Given the description of an element on the screen output the (x, y) to click on. 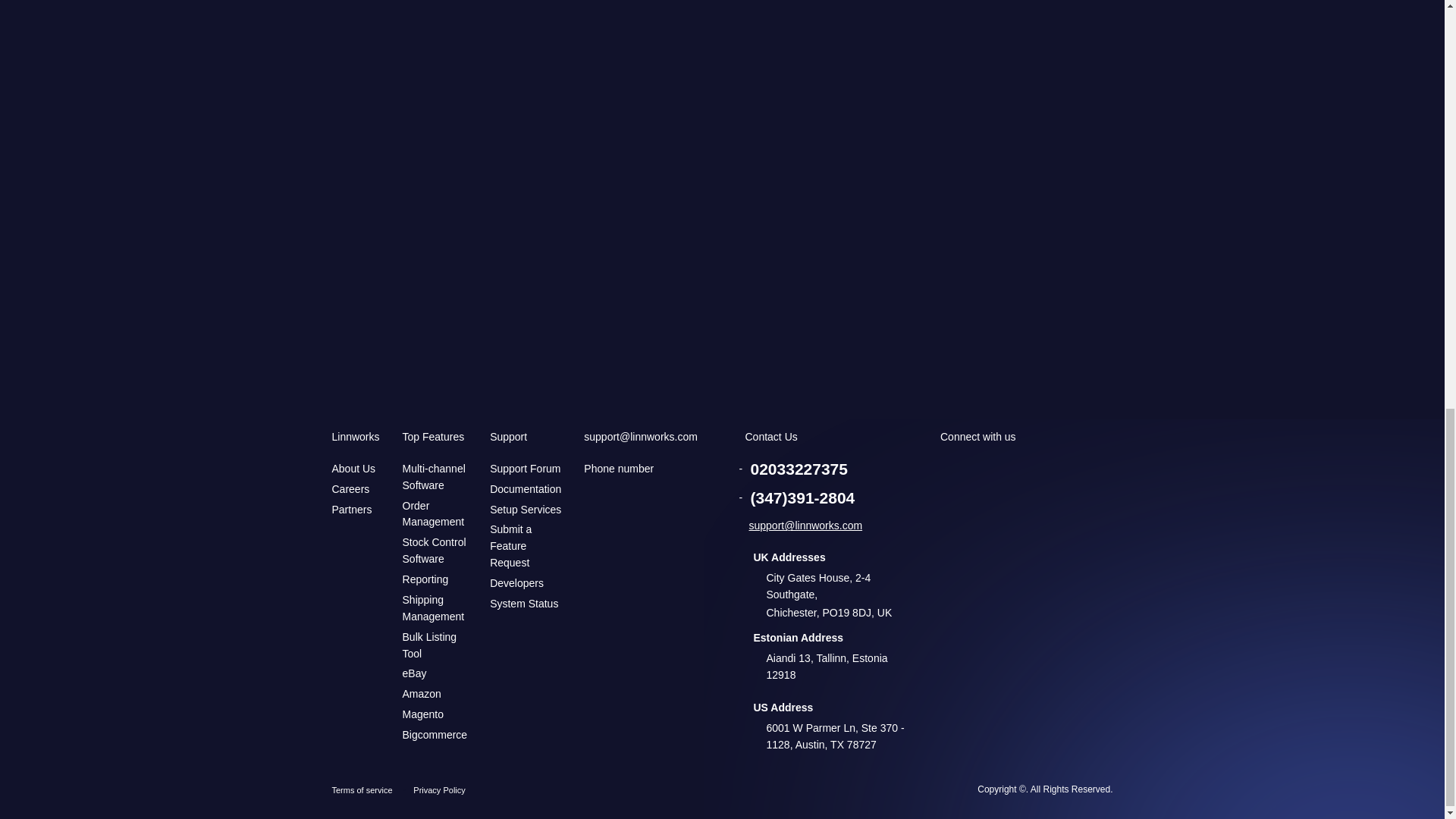
About Us (353, 468)
Stock Control Software (434, 550)
available here (451, 197)
from our documentation. (572, 255)
Careers (350, 489)
Reporting (425, 579)
Multi-channel Software (434, 476)
Order Management (433, 512)
Bulk Listing Tool (430, 645)
Partners (351, 509)
